Given the description of an element on the screen output the (x, y) to click on. 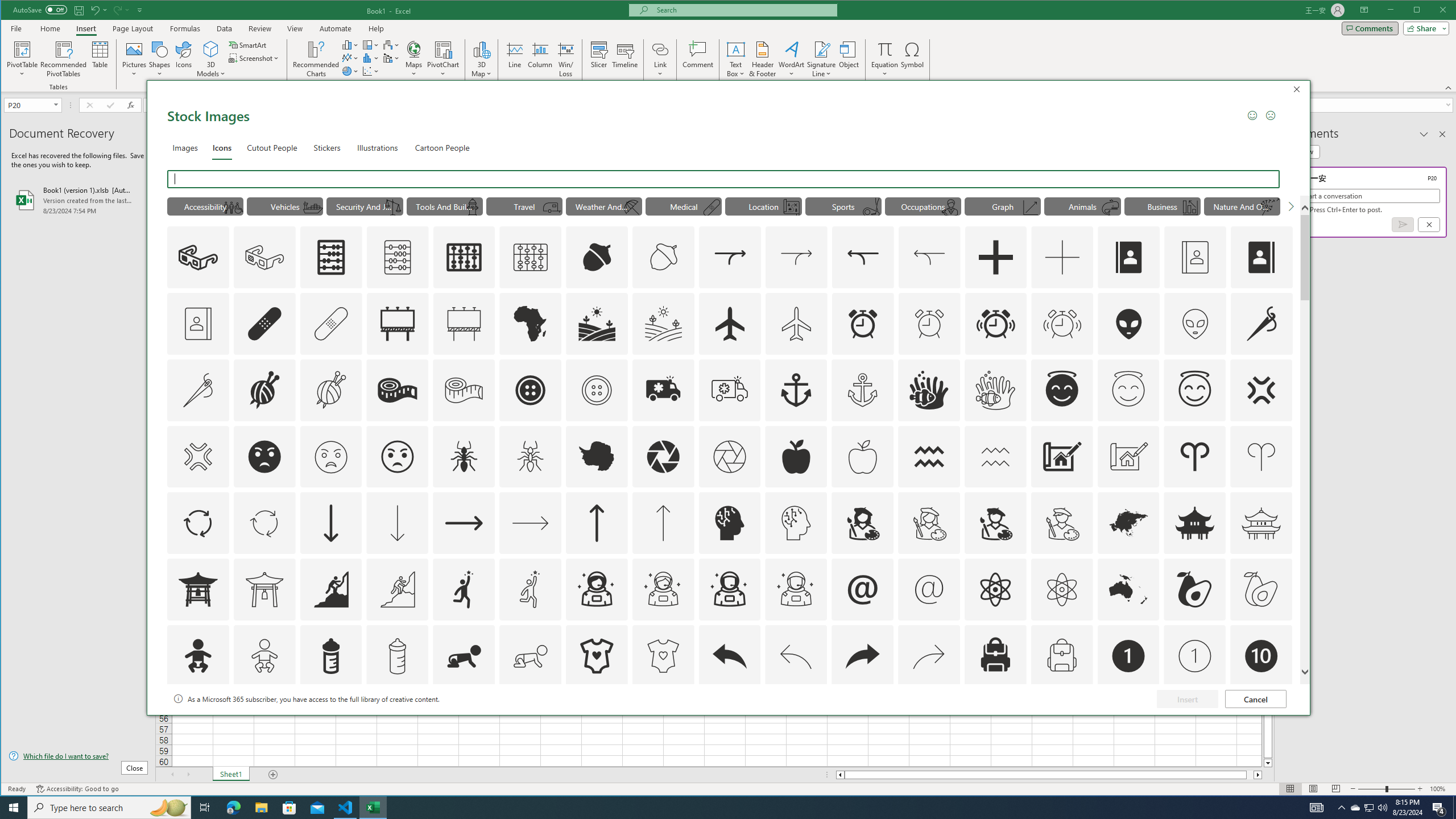
AutomationID: Icons_AsianTemple_M (1260, 522)
"Medical" Icons. (683, 206)
"Security And Justice" Icons. (364, 206)
AutomationID: Icons_Acquisition_RTL_M (928, 256)
AutomationID: Icons_AlterationsTailoring1_M (330, 389)
Text Box (735, 59)
AutomationID: Icons_Badge5 (663, 721)
AutomationID: Icons_Ambulance (663, 389)
AutomationID: Icons_AdhesiveBandage_M (330, 323)
Task View (204, 807)
Insert Scatter (X, Y) or Bubble Chart (371, 70)
